Given the description of an element on the screen output the (x, y) to click on. 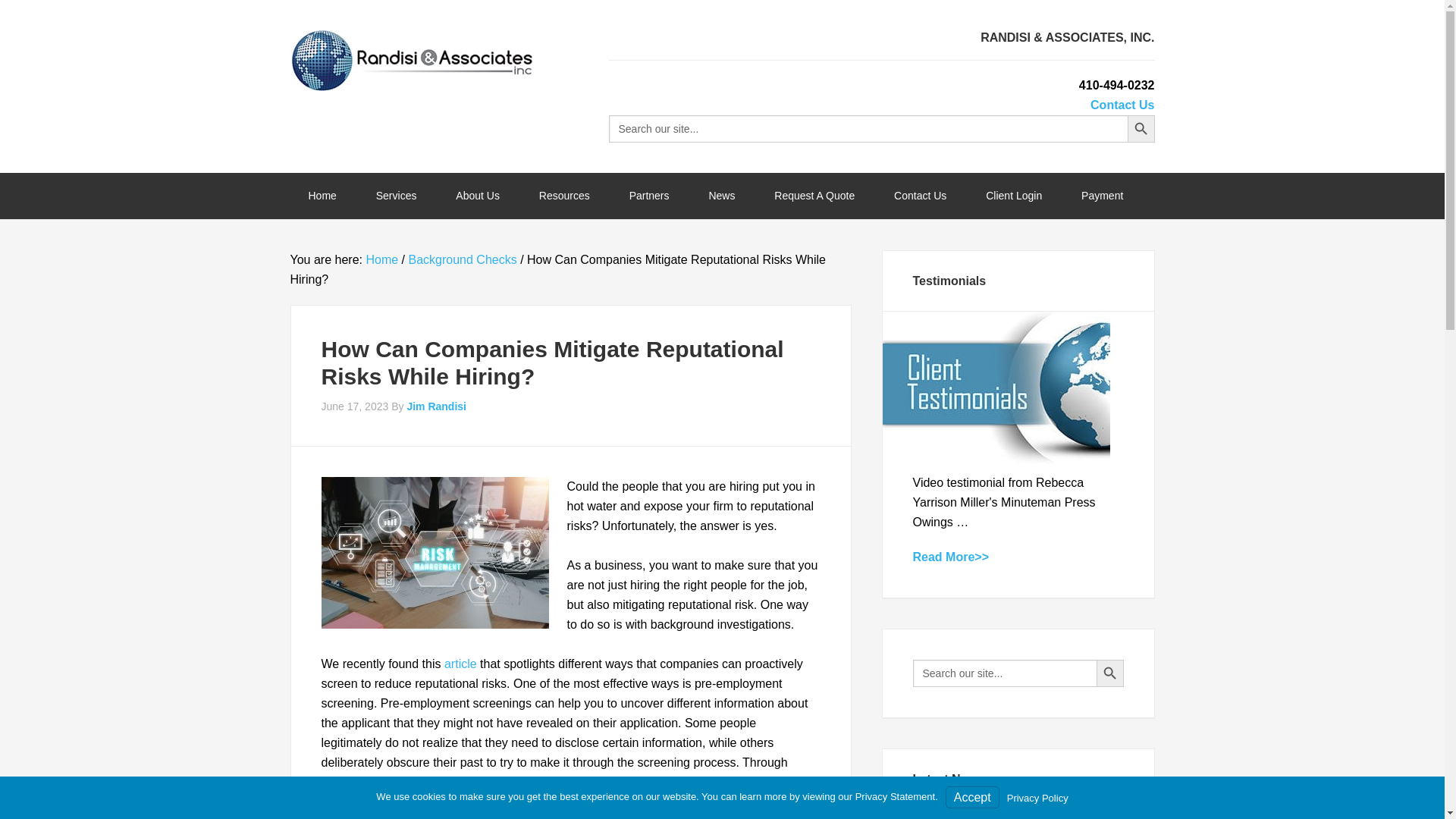
article (460, 663)
Payment (1101, 195)
Home (321, 195)
Search Button (1140, 128)
About Us (478, 195)
Resources (564, 195)
Contact Us (1122, 104)
Services (396, 195)
Home (381, 259)
Contact Us (919, 195)
News (721, 195)
Request A Quote (813, 195)
Partners (649, 195)
Client Login (1013, 195)
Background Checks (461, 259)
